Given the description of an element on the screen output the (x, y) to click on. 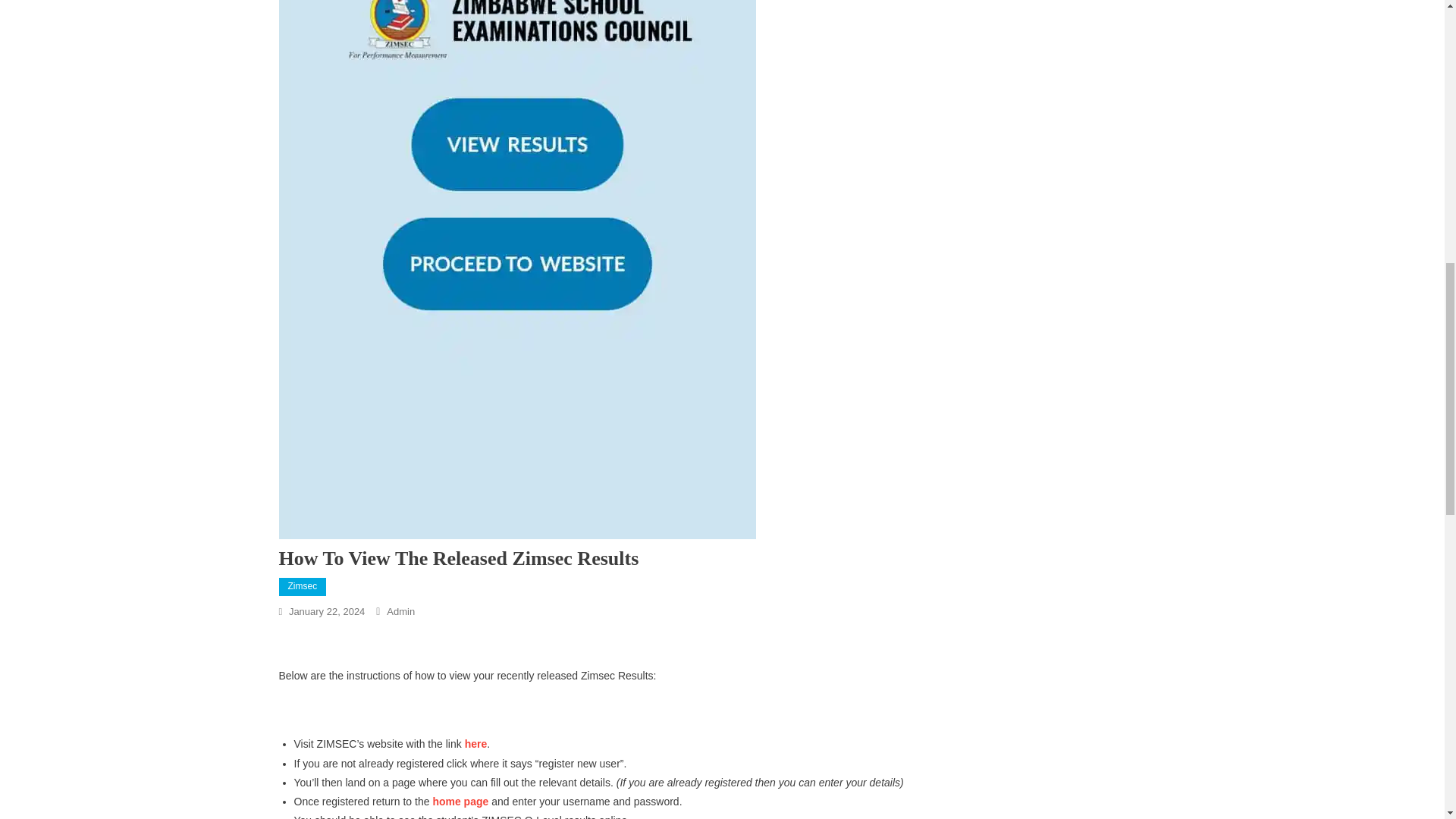
Admin (400, 611)
here (475, 743)
home page (459, 801)
Zimsec (302, 587)
January 22, 2024 (326, 611)
